Given the description of an element on the screen output the (x, y) to click on. 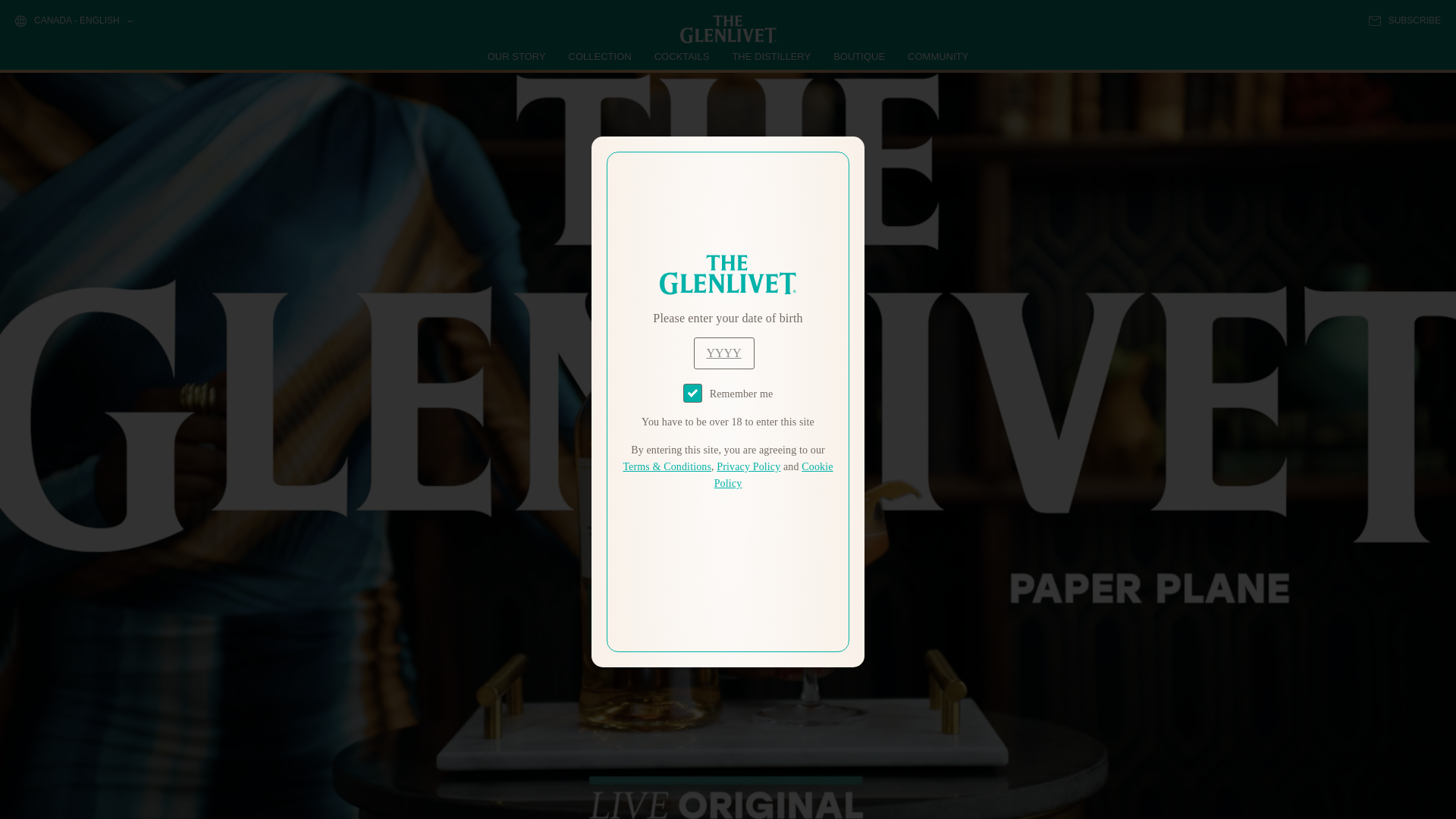
COCKTAILS (681, 56)
COMMUNITY (937, 56)
BOUTIQUE (858, 56)
OUR STORY (516, 56)
CANADA - ENGLISH (73, 21)
THE DISTILLERY (771, 56)
Cookie Policy (773, 474)
COLLECTION (600, 56)
Privacy Policy (748, 466)
SUBSCRIBE (1404, 20)
year (723, 353)
